Given the description of an element on the screen output the (x, y) to click on. 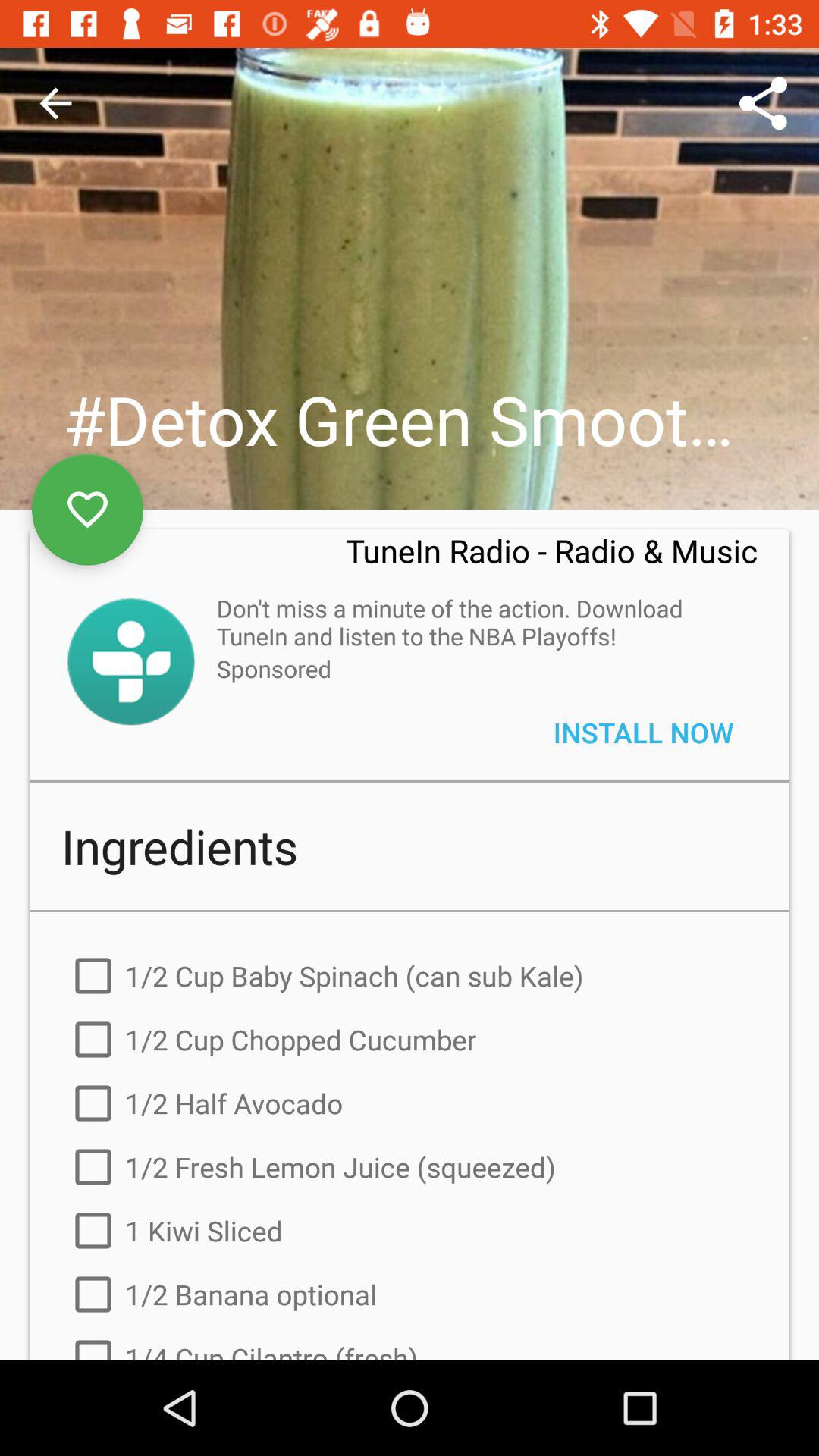
click item below the 1 2 fresh icon (409, 1230)
